Given the description of an element on the screen output the (x, y) to click on. 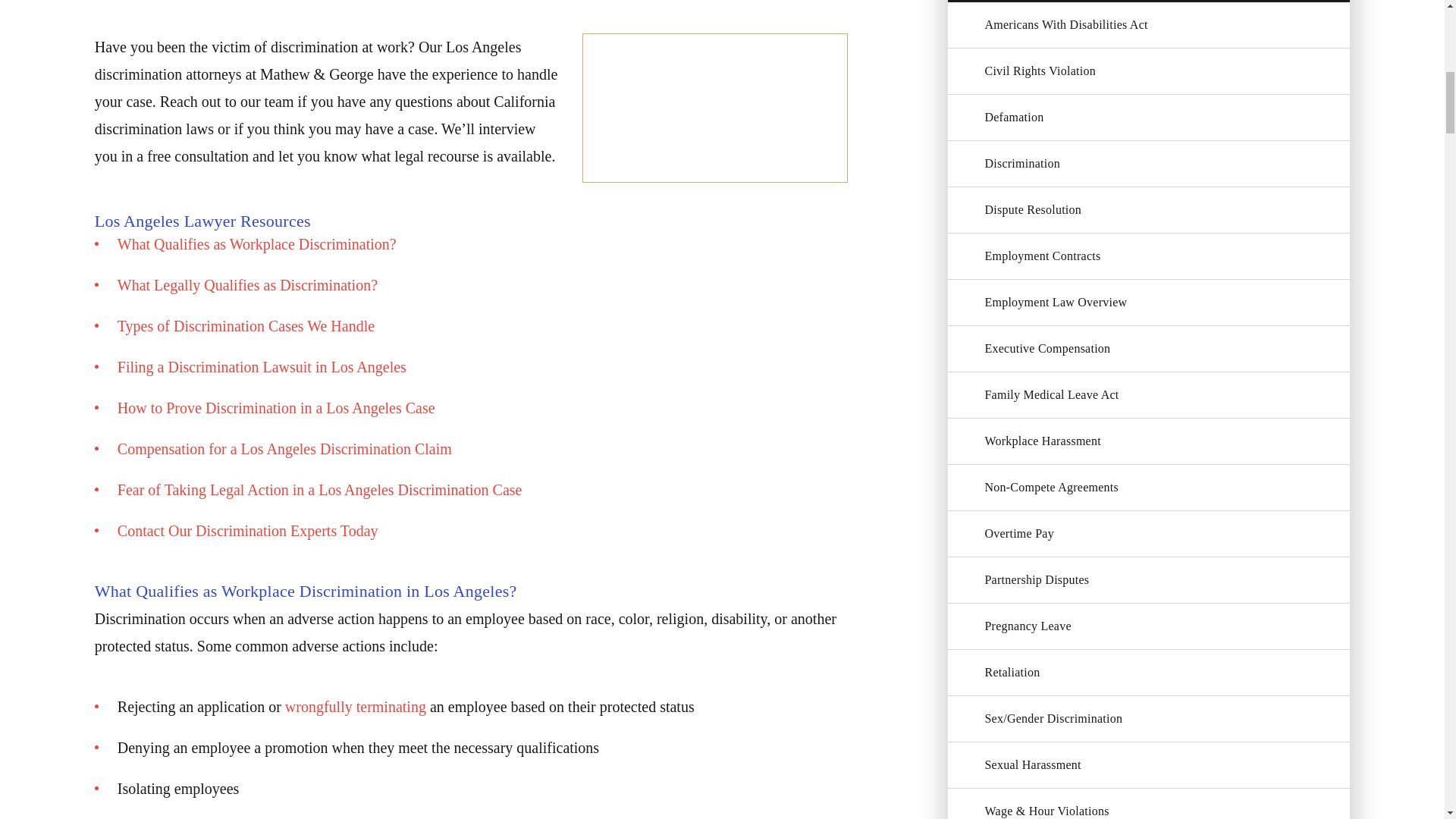
Compensation for a Los Angeles Discrimination Claim (284, 448)
Contact Our Discrimination Experts Today (247, 530)
How to Prove Discrimination in a Los Angeles Case (276, 407)
What Legally Qualifies as Discrimination? (247, 284)
What Qualifies as Workplace Discrimination? (256, 243)
Filing a Discrimination Lawsuit in Los Angeles (261, 366)
Types of Discrimination Cases We Handle (245, 325)
wrongfully terminating (355, 706)
